Given the description of an element on the screen output the (x, y) to click on. 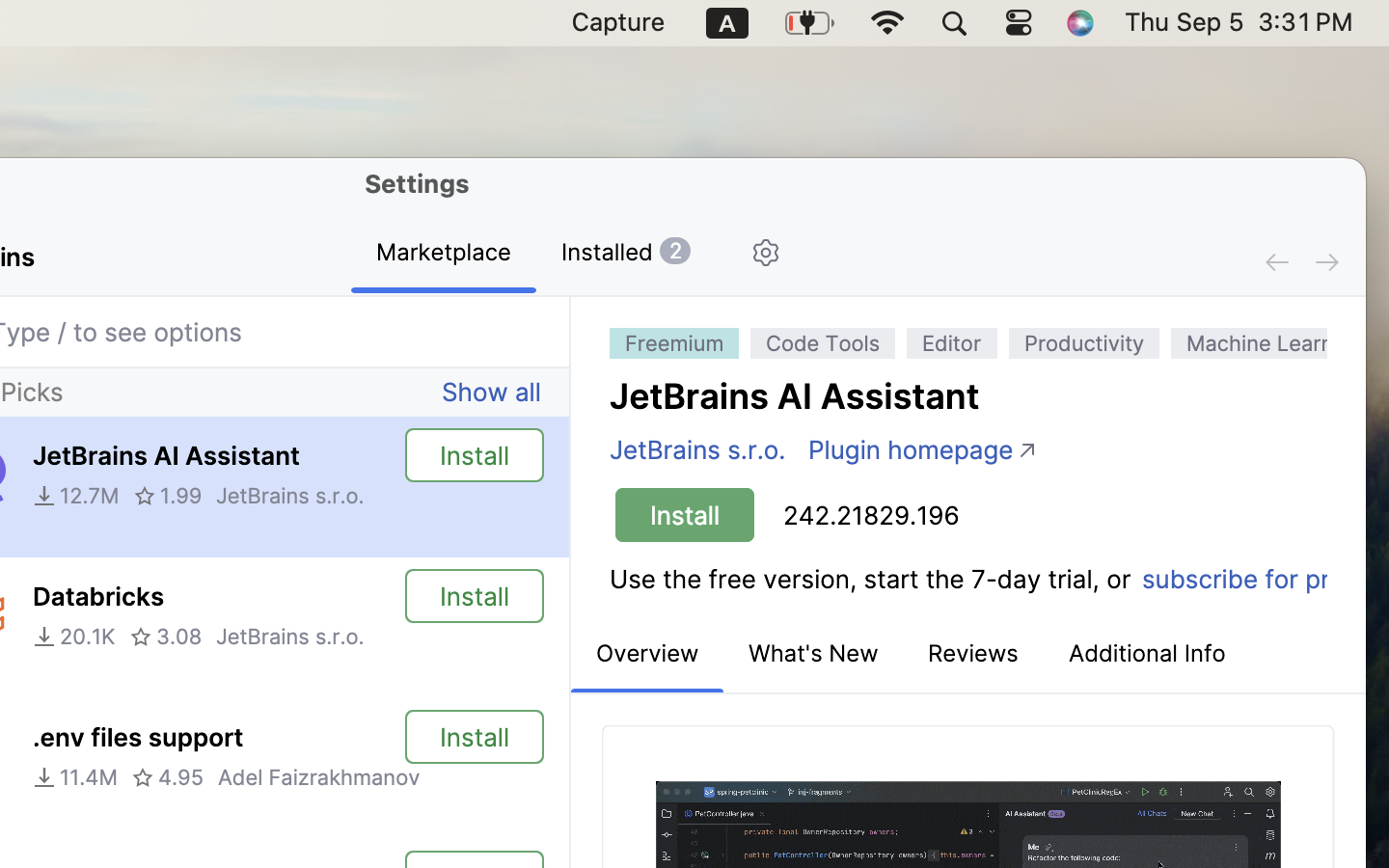
JetBrains AI Assistant Element type: AXTextField (795, 396)
Settings Element type: AXStaticText (417, 182)
0 Element type: AXRadioButton (1146, 654)
.env files support Element type: AXStaticText (137, 737)
